Given the description of an element on the screen output the (x, y) to click on. 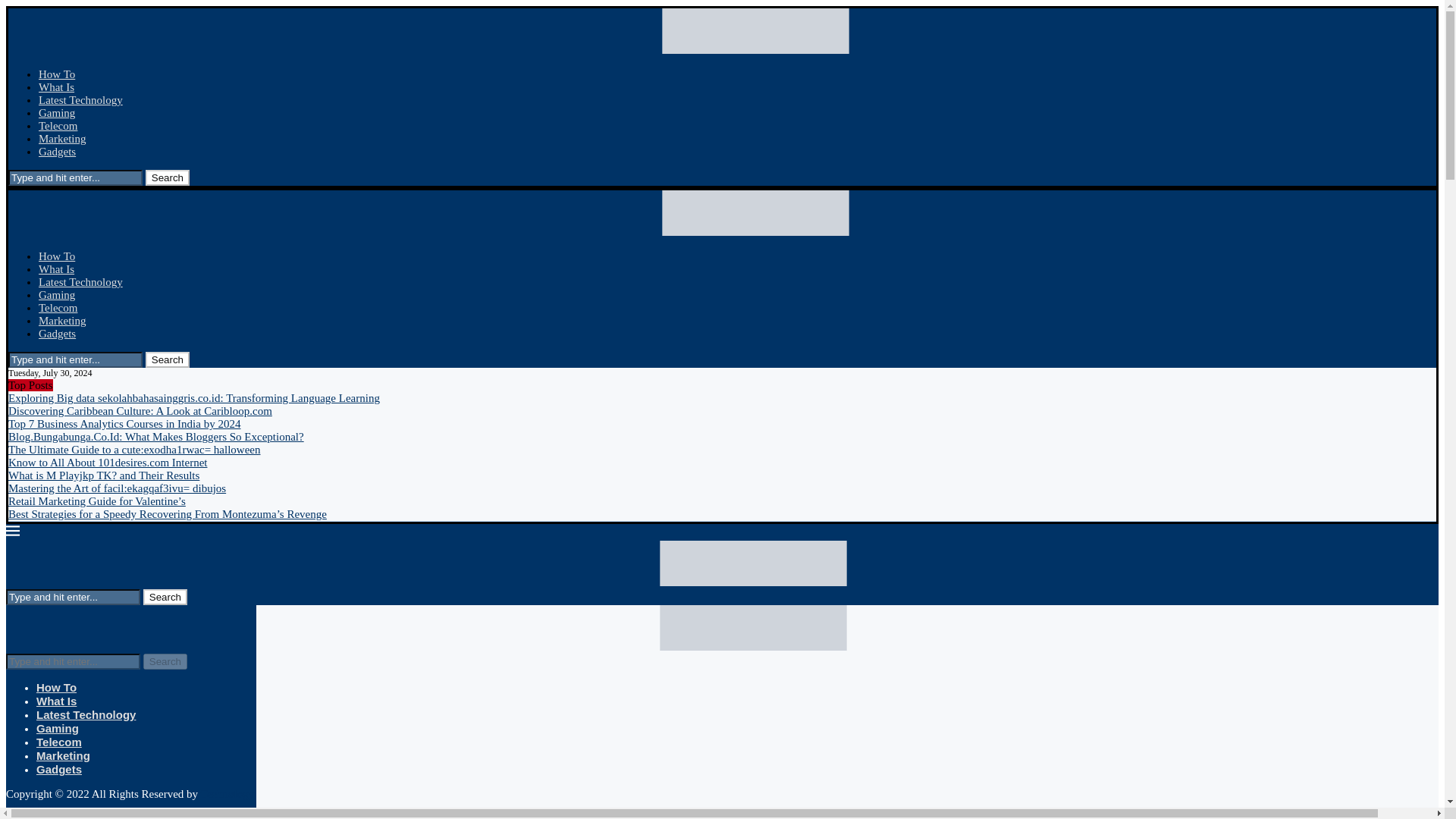
How To (57, 256)
Marketing (62, 320)
How To (57, 73)
Discovering Caribbean Culture: A Look at Caribloop.com (140, 410)
Blog.Bungabunga.Co.Id: What Makes Bloggers So Exceptional? (156, 436)
Telecom (58, 125)
Telecom (58, 307)
Gaming (57, 112)
What Is (56, 87)
Gaming (57, 295)
Top 7 Business Analytics Courses in India by 2024 (124, 423)
Marketing (62, 138)
Gadgets (57, 333)
Search (167, 177)
Latest Technology (80, 282)
